Given the description of an element on the screen output the (x, y) to click on. 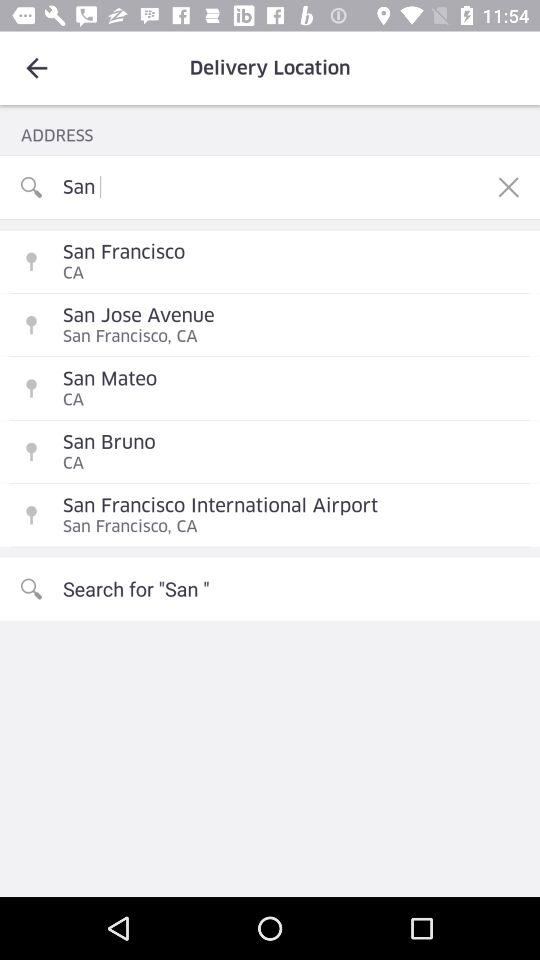
open icon next to the delivery location (36, 68)
